Given the description of an element on the screen output the (x, y) to click on. 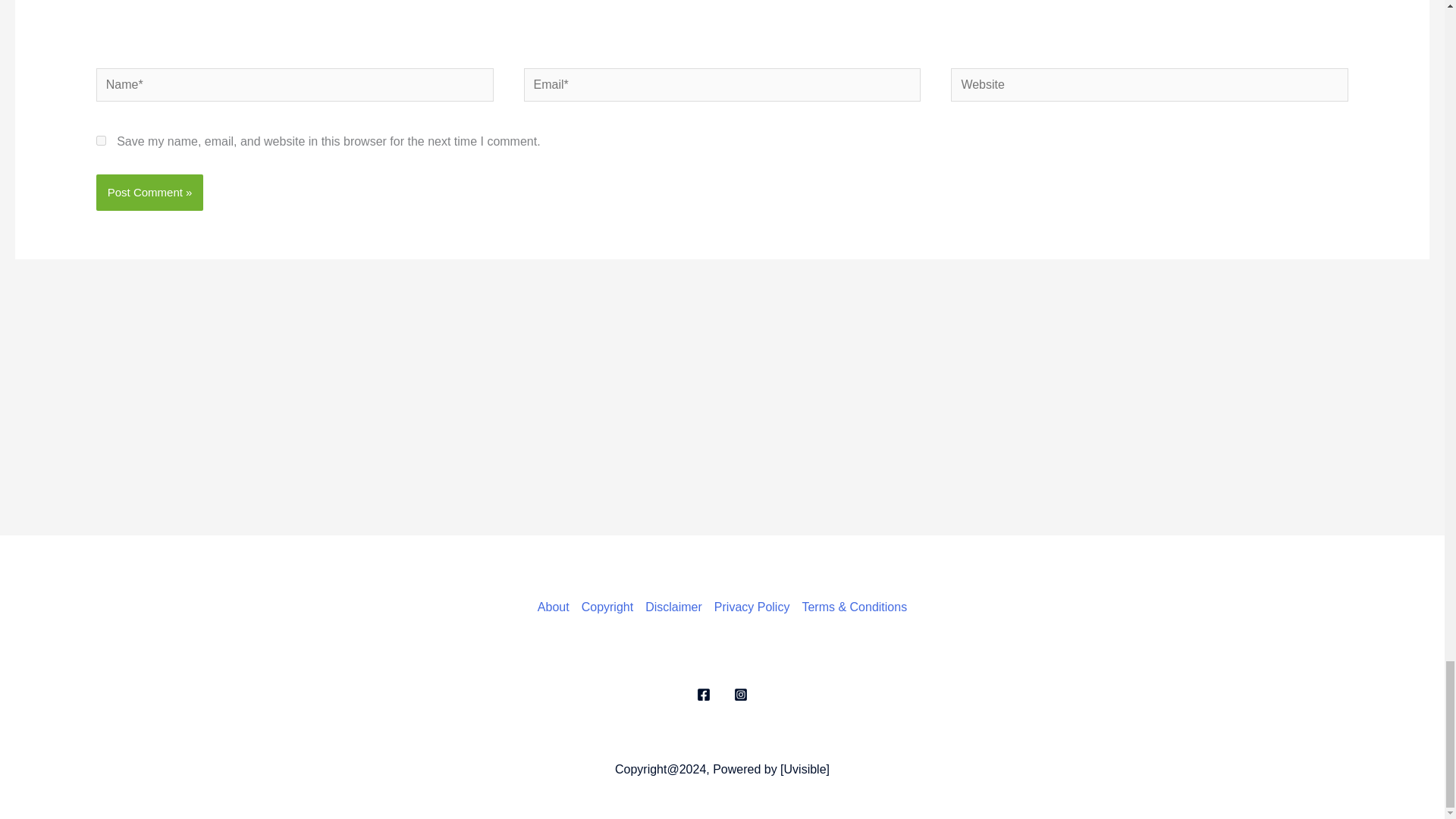
yes (101, 140)
Advertisement (721, 30)
About (556, 606)
